Given the description of an element on the screen output the (x, y) to click on. 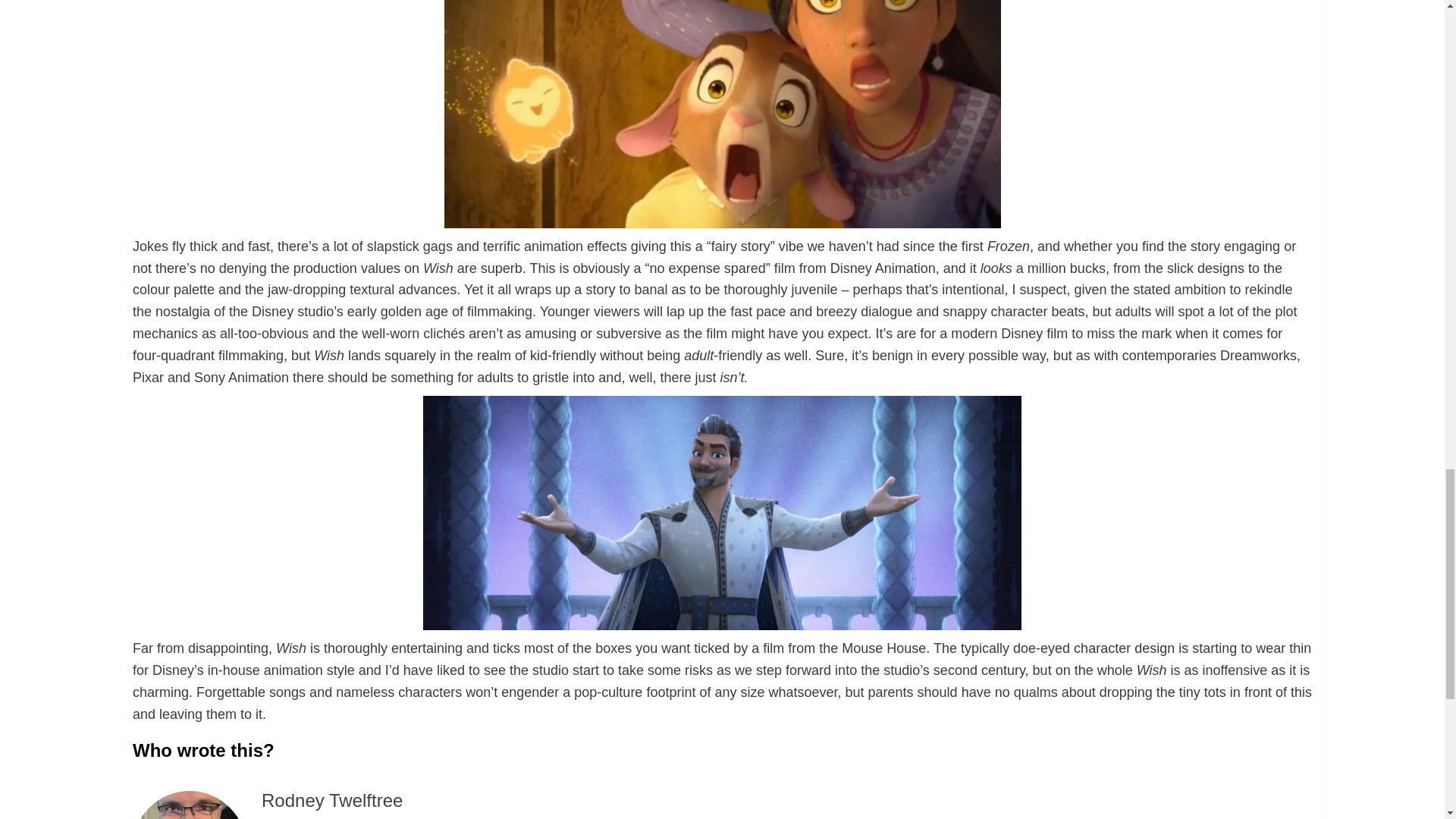
Rodney Twelftree (332, 800)
